Given the description of an element on the screen output the (x, y) to click on. 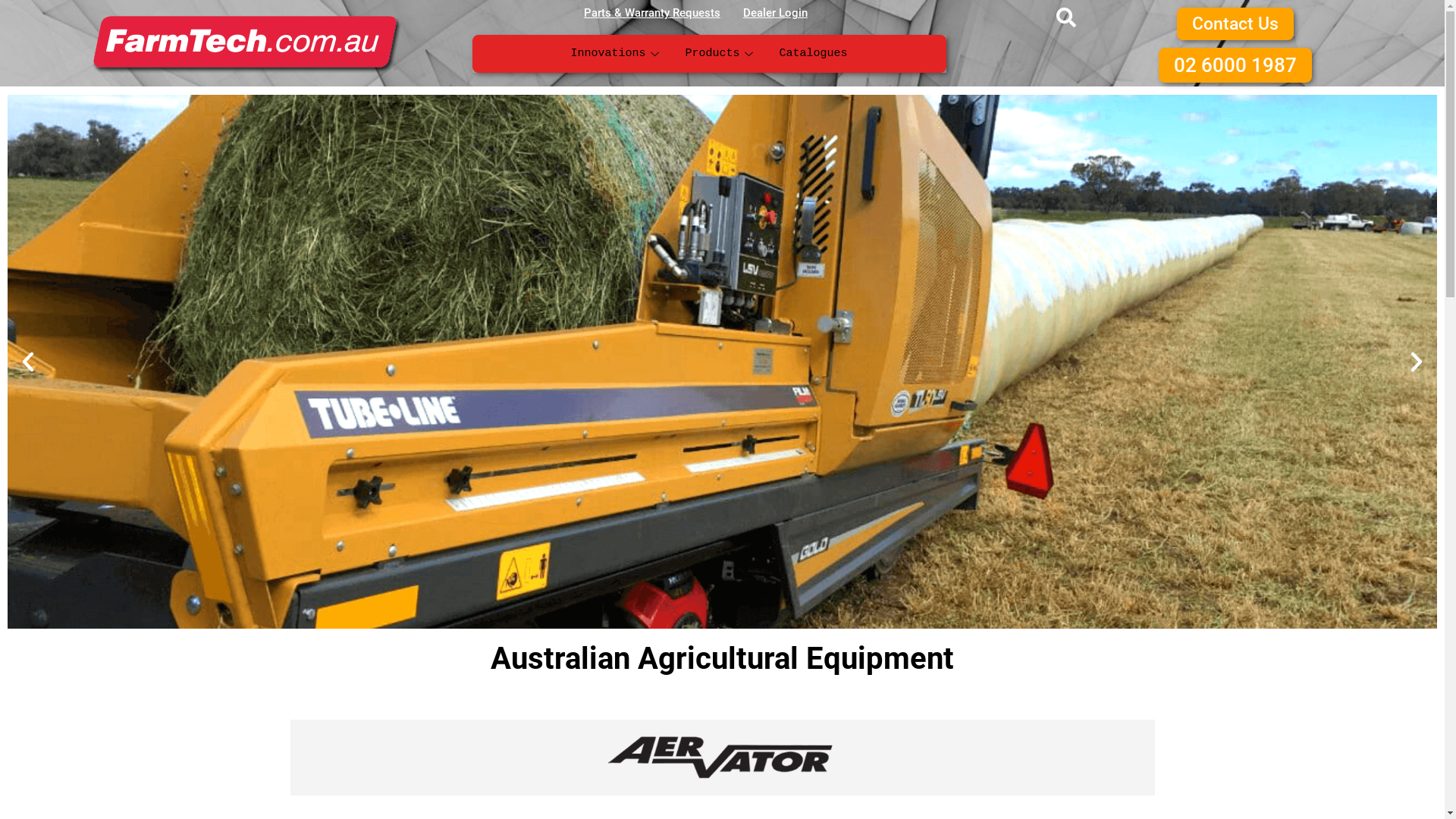
Search Element type: hover (1073, 17)
Catalogues Element type: text (813, 53)
Parts & Warranty Requests Element type: text (651, 12)
Innovations Element type: text (616, 53)
02 6000 1987 Element type: text (1234, 64)
Dealer Login Element type: text (775, 12)
Contact Us Element type: text (1234, 23)
Products Element type: text (721, 53)
